Given the description of an element on the screen output the (x, y) to click on. 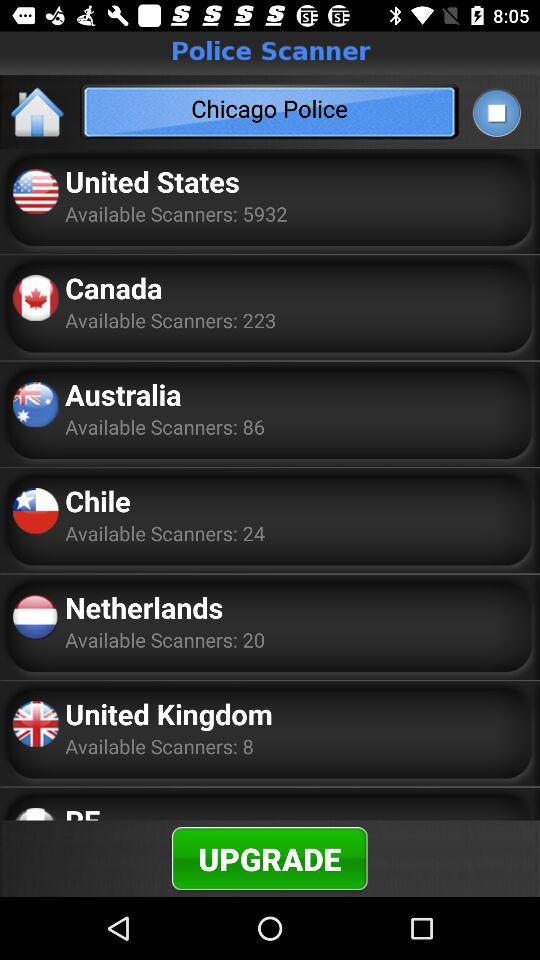
stop (496, 111)
